Given the description of an element on the screen output the (x, y) to click on. 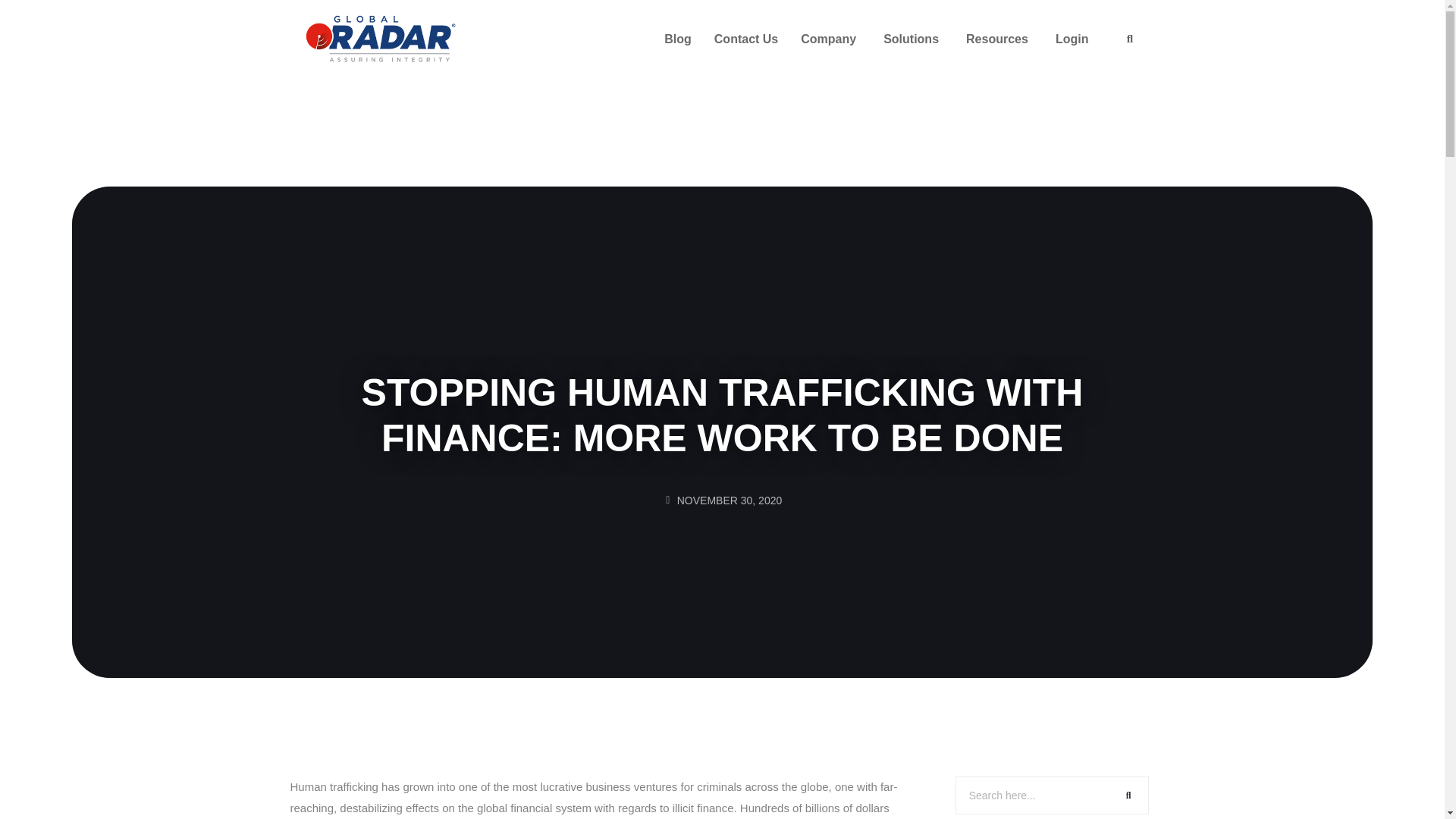
Solutions (913, 39)
Blog (677, 39)
Contact Us (746, 39)
Resources (999, 39)
Login (1074, 39)
Company (830, 39)
